Given the description of an element on the screen output the (x, y) to click on. 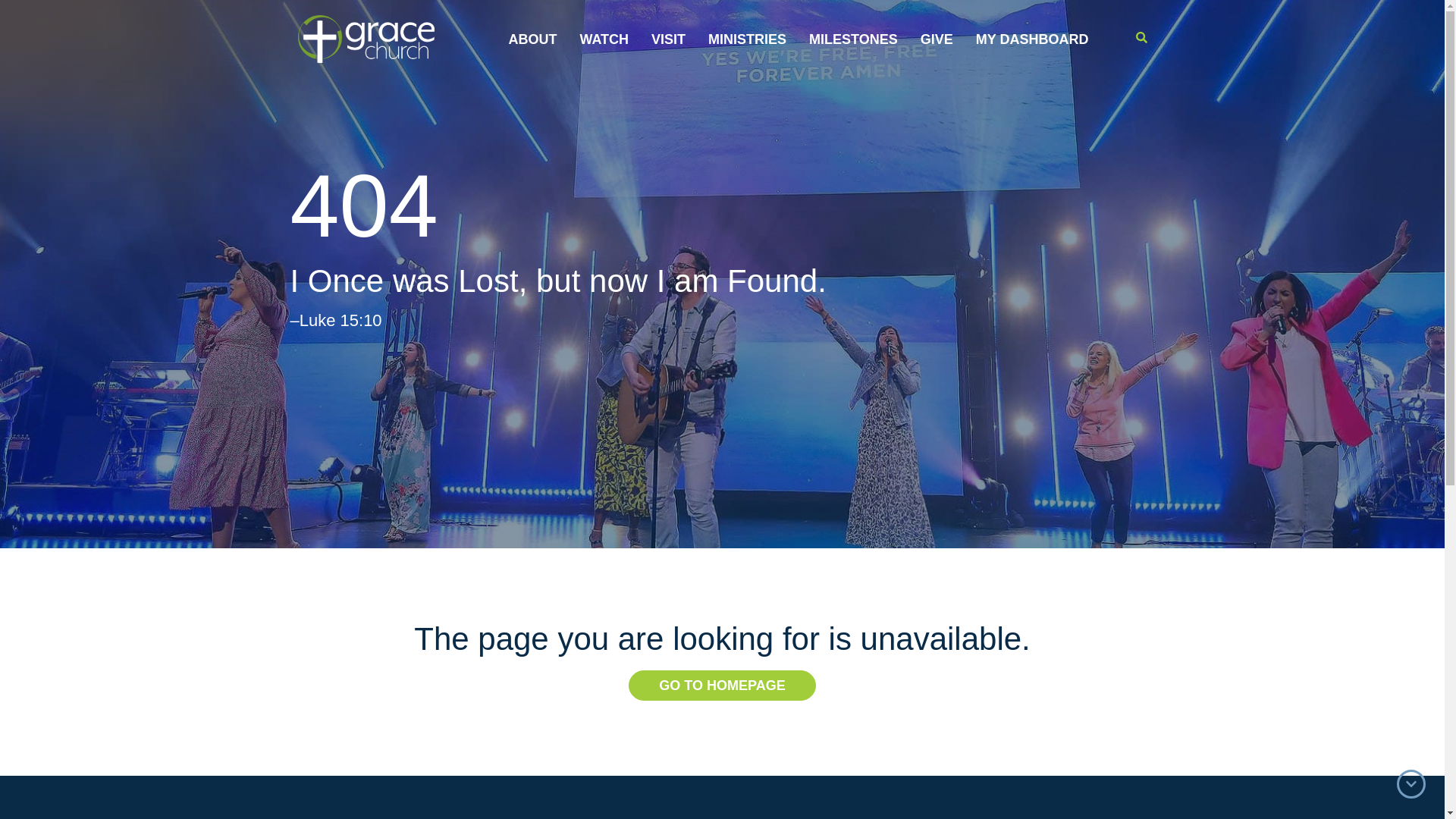
ABOUT (532, 39)
GO TO HOMEPAGE (721, 685)
GIVE (936, 39)
MILESTONES (852, 39)
WATCH (603, 39)
MINISTRIES (747, 39)
VISIT (668, 39)
MY DASHBOARD (1031, 39)
